Given the description of an element on the screen output the (x, y) to click on. 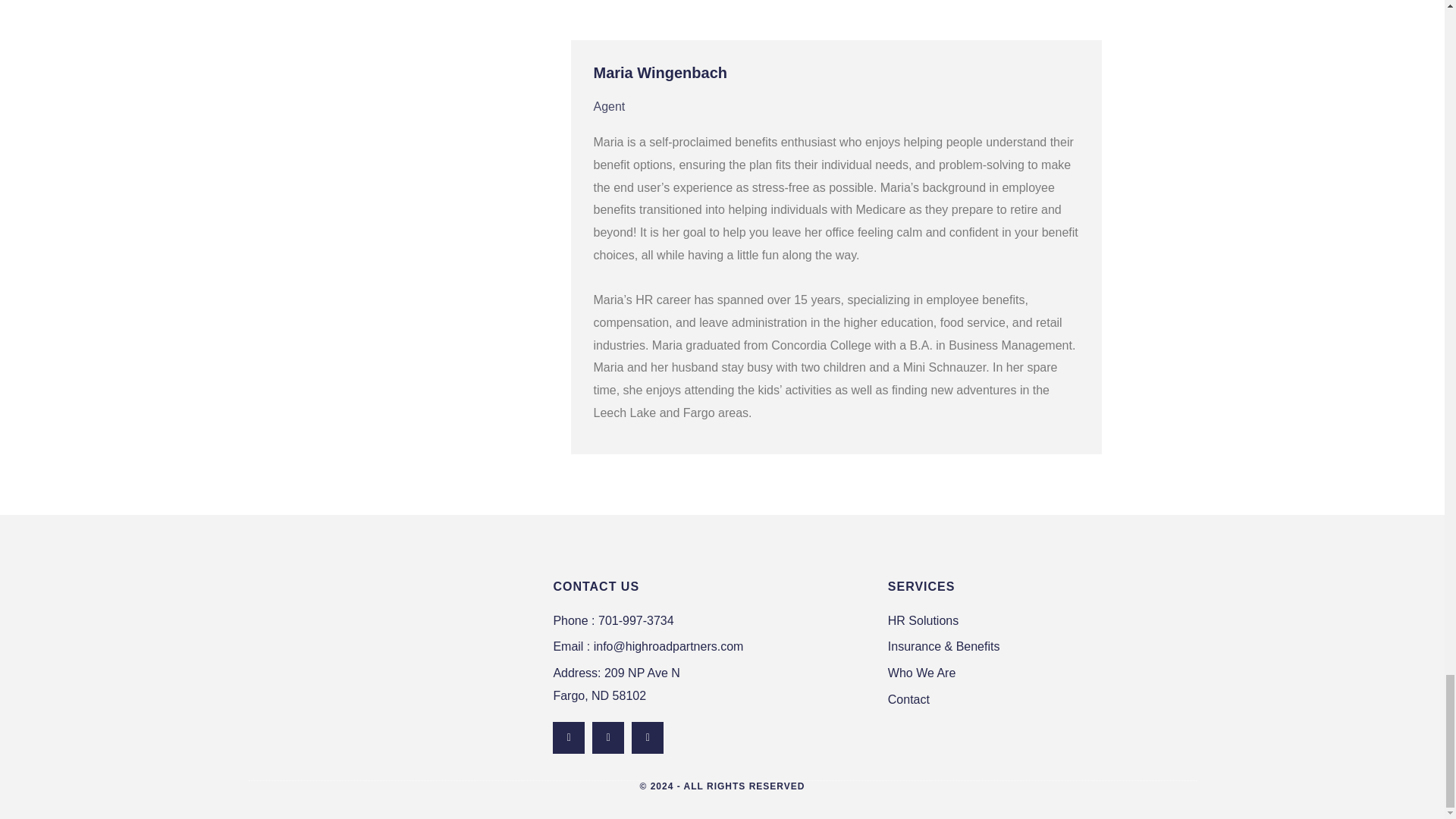
Who We Are (712, 683)
Linkedin (1037, 672)
Instagram (569, 737)
Facebook-f (647, 737)
Contact (608, 737)
HR Solutions (1037, 699)
Phone : 701-997-3734 (1037, 620)
